Given the description of an element on the screen output the (x, y) to click on. 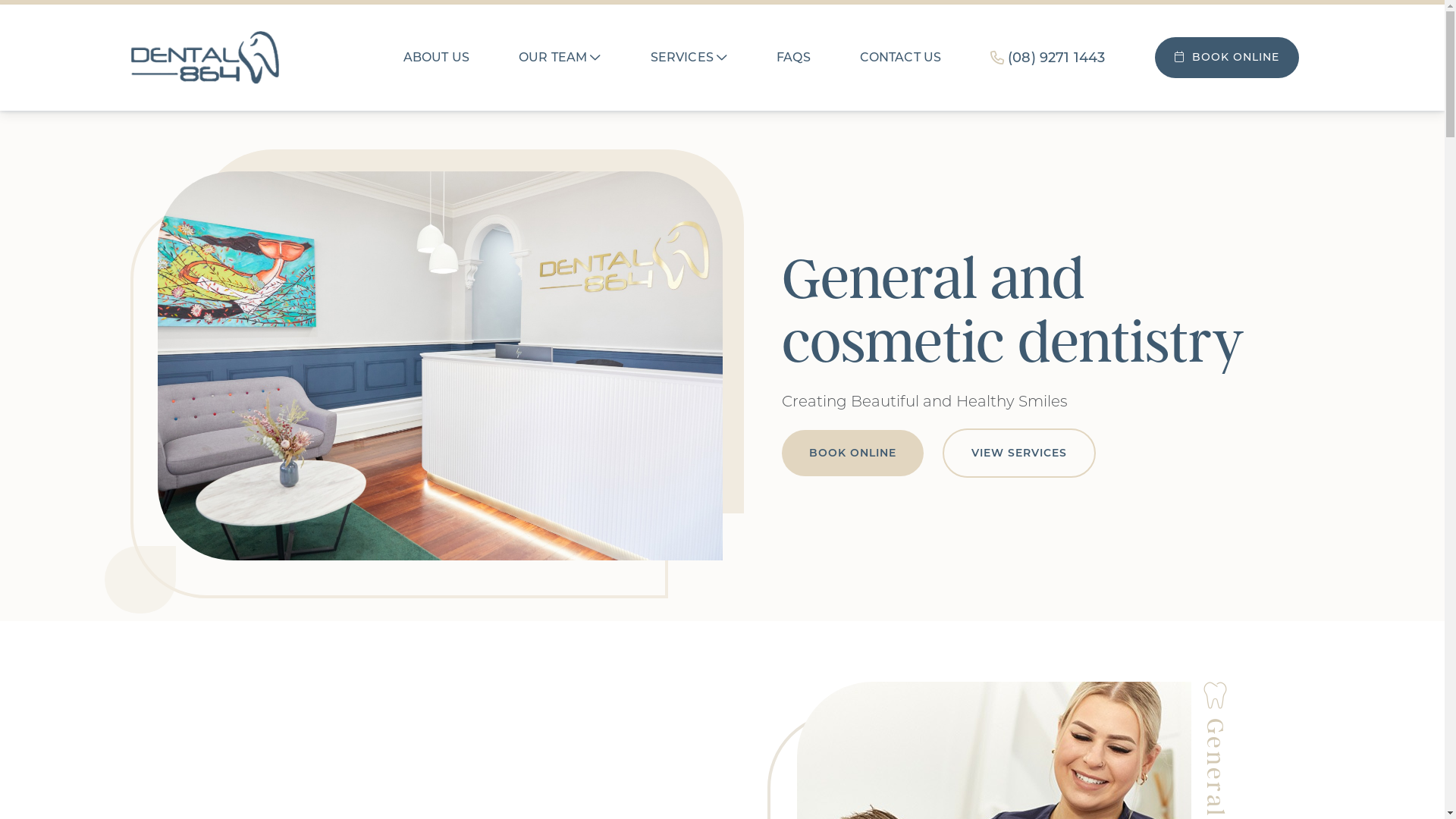
BOOK ONLINE Element type: text (851, 452)
SERVICES Element type: text (688, 57)
FAQS Element type: text (793, 57)
(08) 9271 1443 Element type: text (1047, 57)
OUR TEAM Element type: text (559, 57)
VIEW SERVICES Element type: text (1018, 453)
CONTACT US Element type: text (900, 57)
ABOUT US Element type: text (436, 57)
